Given the description of an element on the screen output the (x, y) to click on. 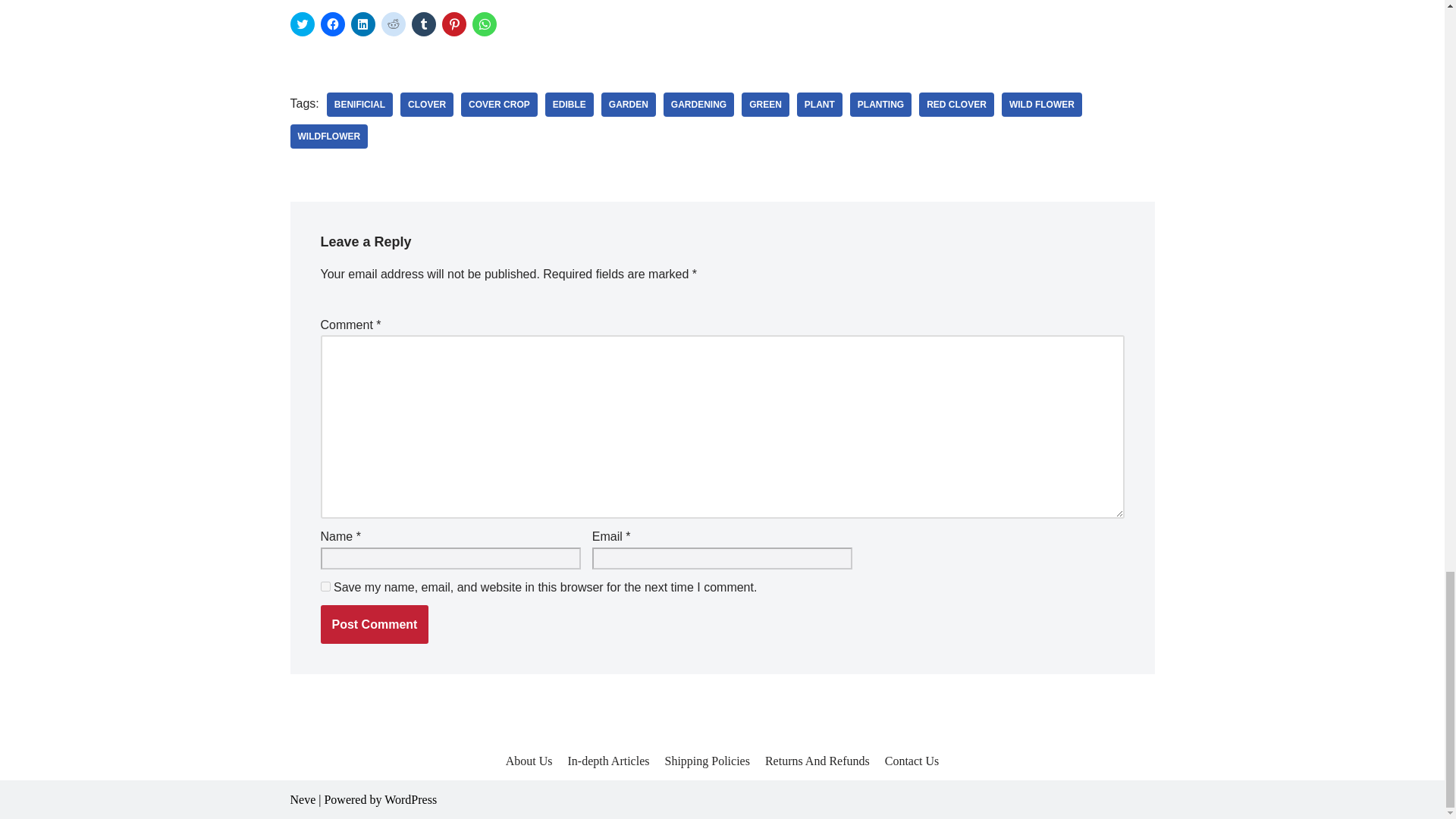
yes (325, 586)
Post Comment (374, 624)
Click to share on Facebook (331, 24)
Click to share on WhatsApp (483, 24)
Click to share on Reddit (392, 24)
Click to share on LinkedIn (362, 24)
Click to share on Twitter (301, 24)
Click to share on Pinterest (453, 24)
Click to share on Tumblr (422, 24)
